Given the description of an element on the screen output the (x, y) to click on. 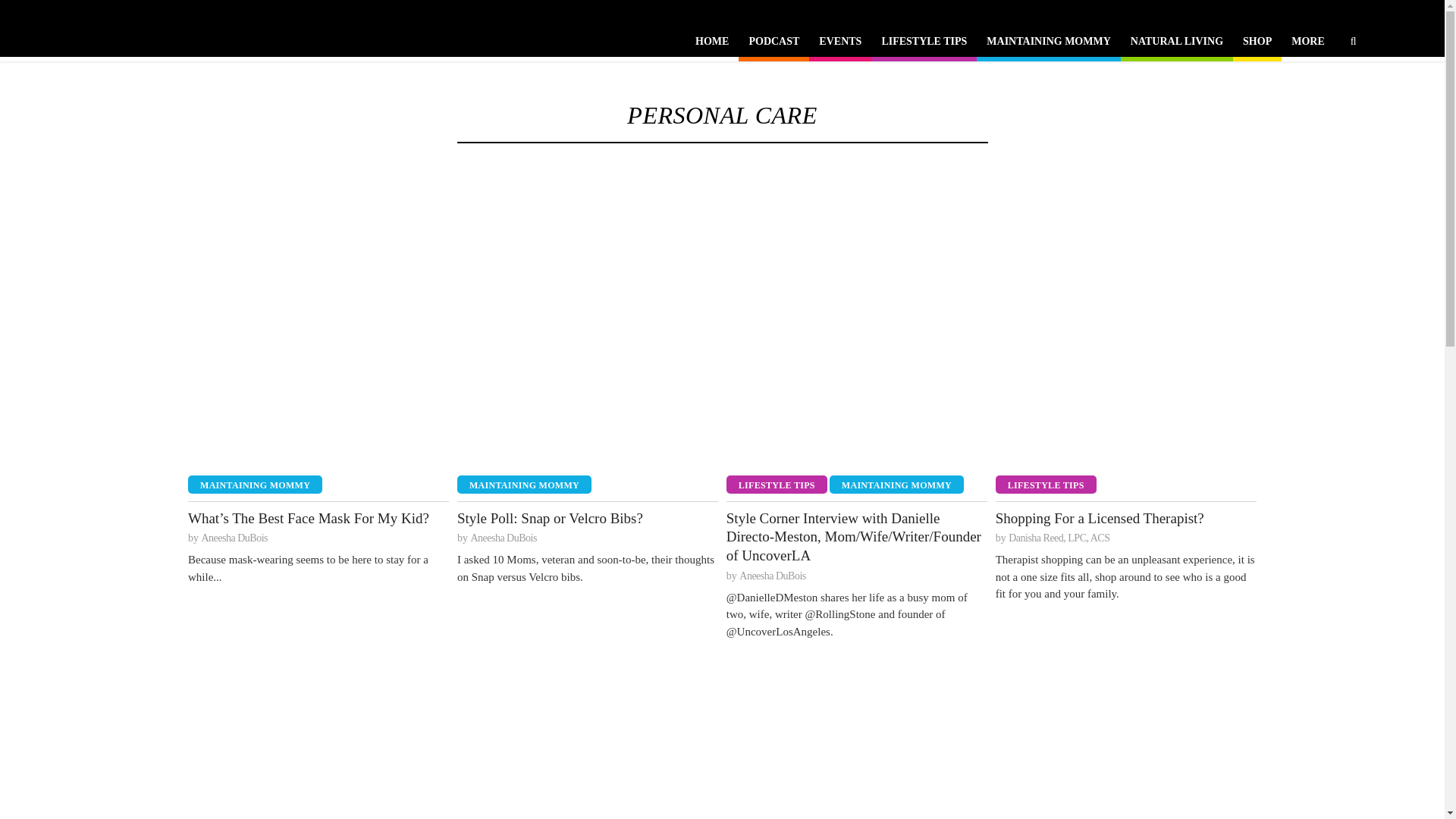
SHOP (1257, 43)
LIFESTYLE TIPS (923, 43)
PODCAST (773, 43)
Aneesha DuBois (234, 538)
EVENTS (839, 43)
NATURAL LIVING (1177, 43)
Style Poll: Snap or Velcro Bibs? (587, 518)
Shopping For a Licensed Therapist? (1125, 518)
Not For Lazy Moms (103, 28)
MAINTAINING MOMMY (1047, 43)
HOME (711, 43)
MAINTAINING MOMMY (254, 484)
MORE (1308, 43)
